Given the description of an element on the screen output the (x, y) to click on. 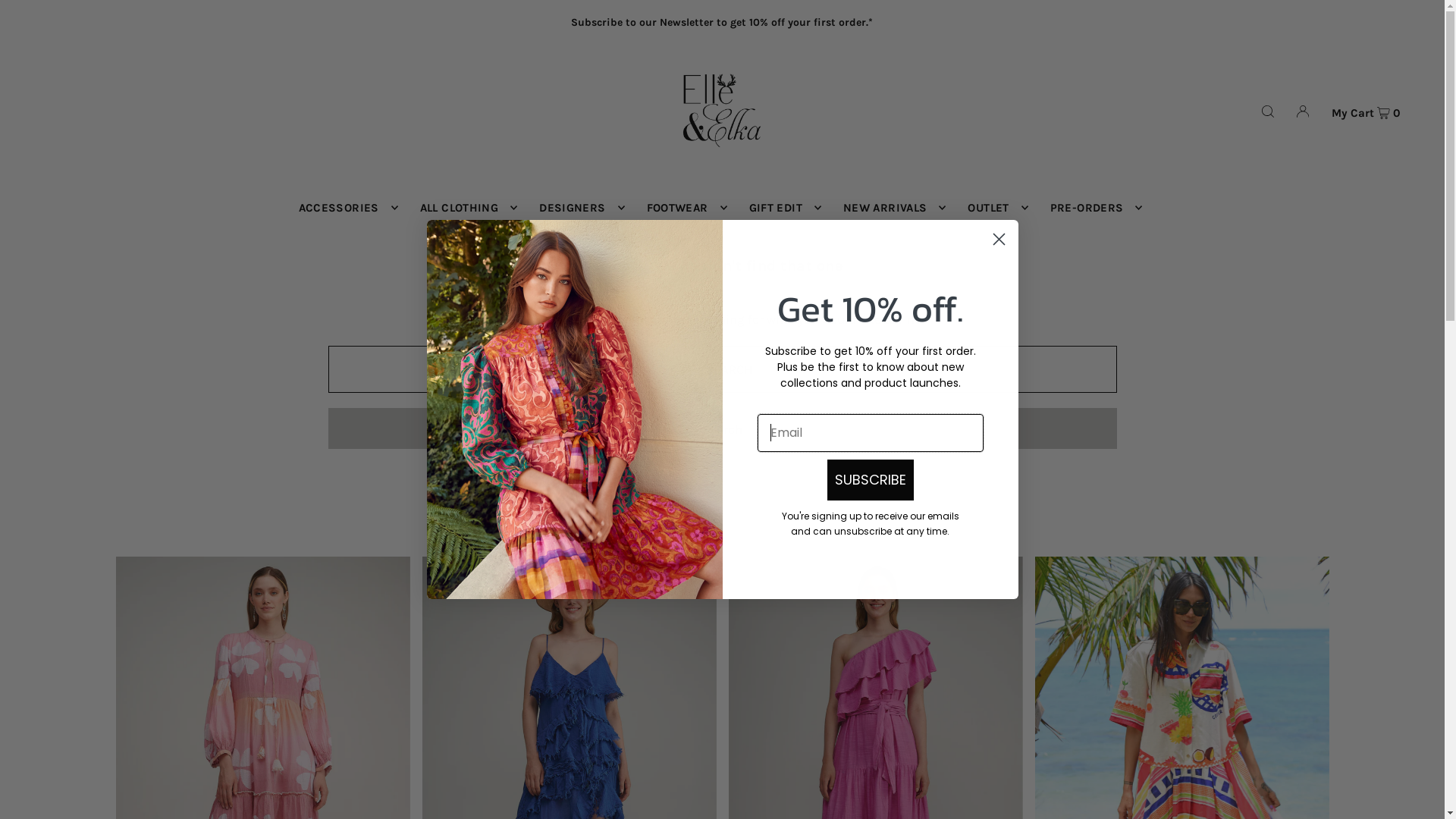
ACCESSORIES Element type: text (344, 207)
FOOTWEAR Element type: text (683, 207)
PRE-ORDERS Element type: text (1092, 207)
SUBSCRIBE Element type: text (869, 479)
OUTLET Element type: text (993, 207)
Close dialog 1 Element type: text (998, 238)
ALL CLOTHING Element type: text (464, 207)
Submit Element type: text (295, 20)
NEW ARRIVALS Element type: text (890, 207)
DESIGNERS Element type: text (577, 207)
GIFT EDIT Element type: text (781, 207)
Search Element type: text (721, 427)
